Given the description of an element on the screen output the (x, y) to click on. 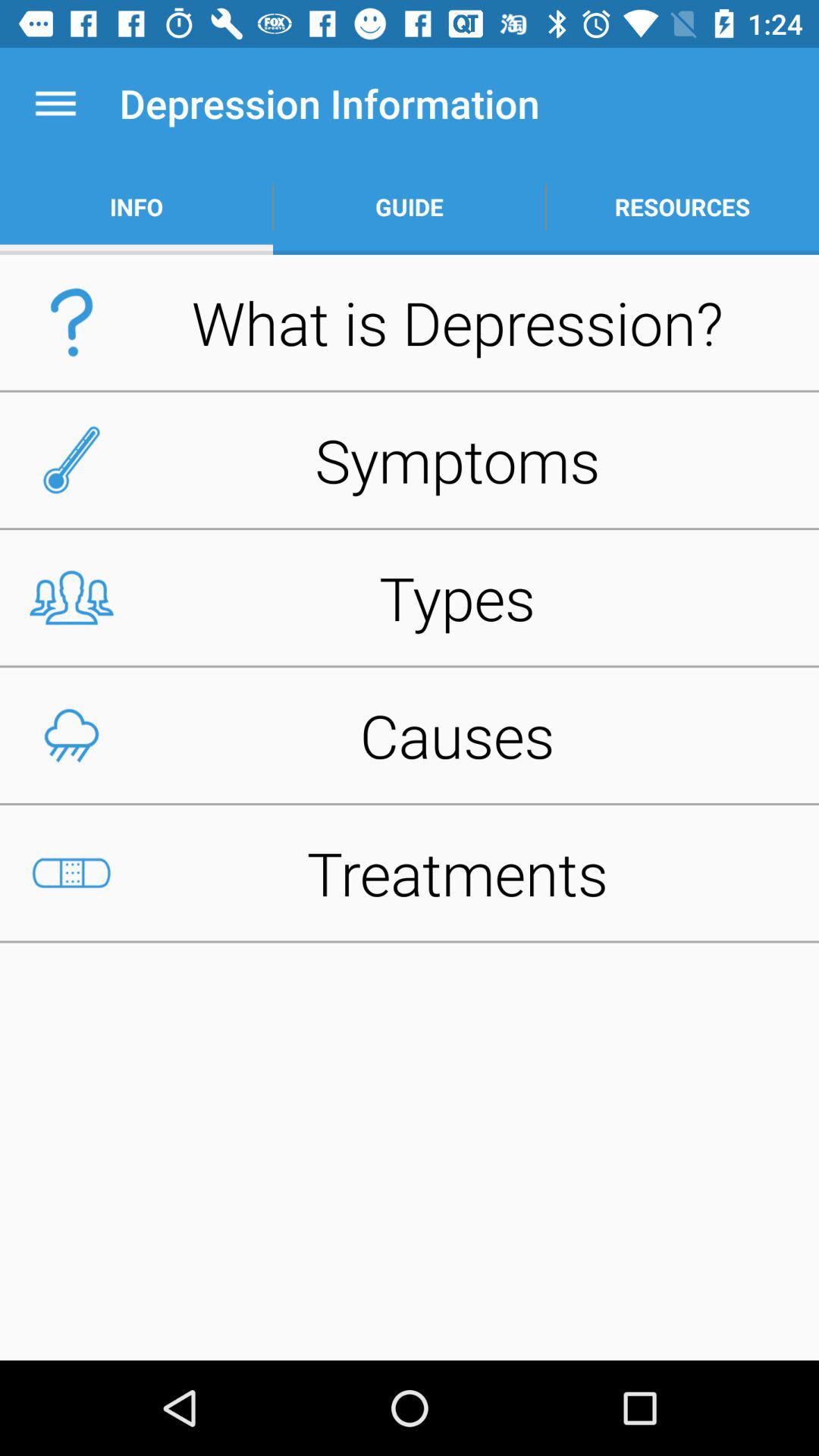
choose app to the right of guide item (682, 206)
